Given the description of an element on the screen output the (x, y) to click on. 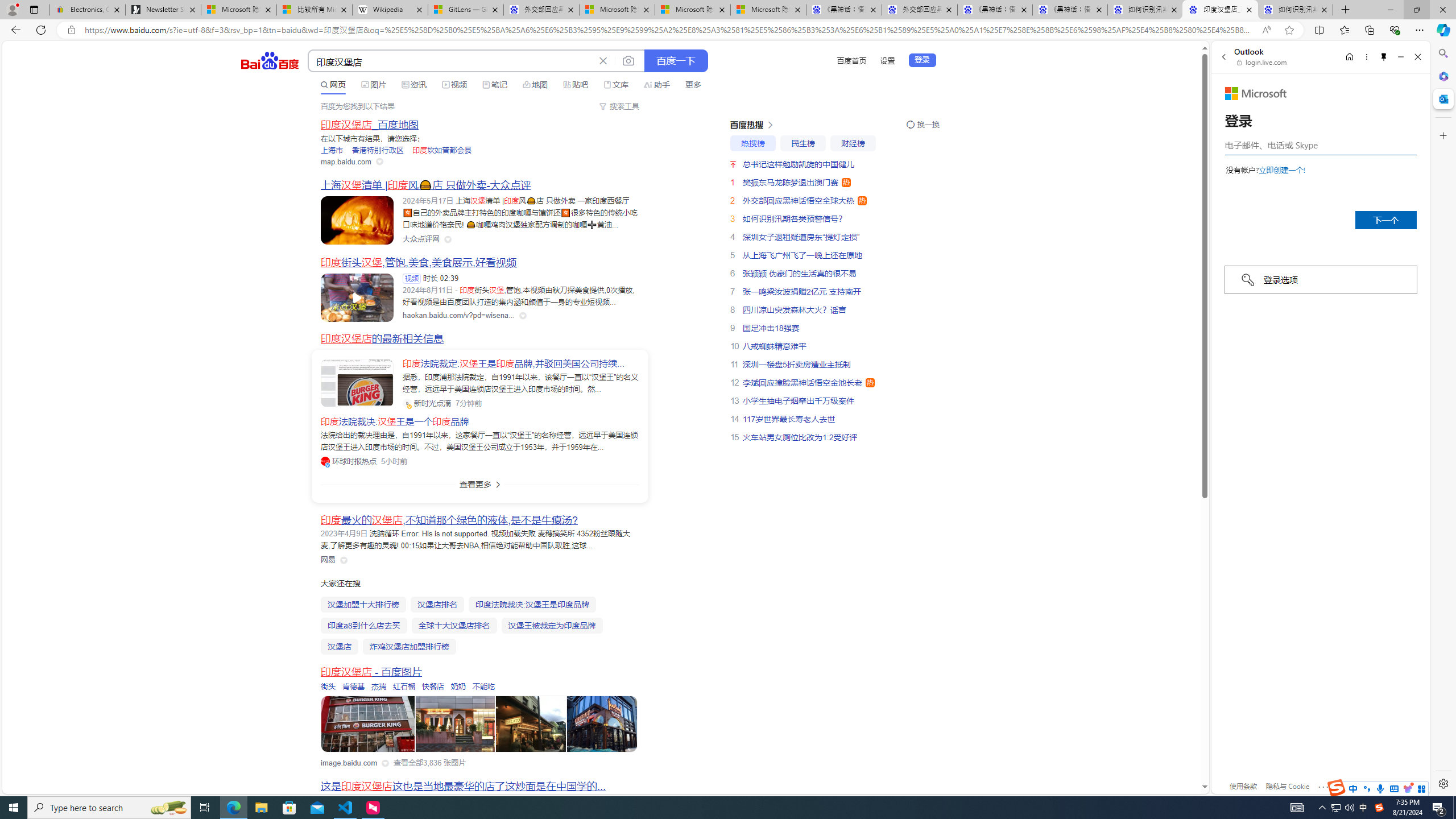
Class: siteLink_9TPP3 (327, 560)
App bar (728, 29)
Side bar (1443, 418)
